Given the description of an element on the screen output the (x, y) to click on. 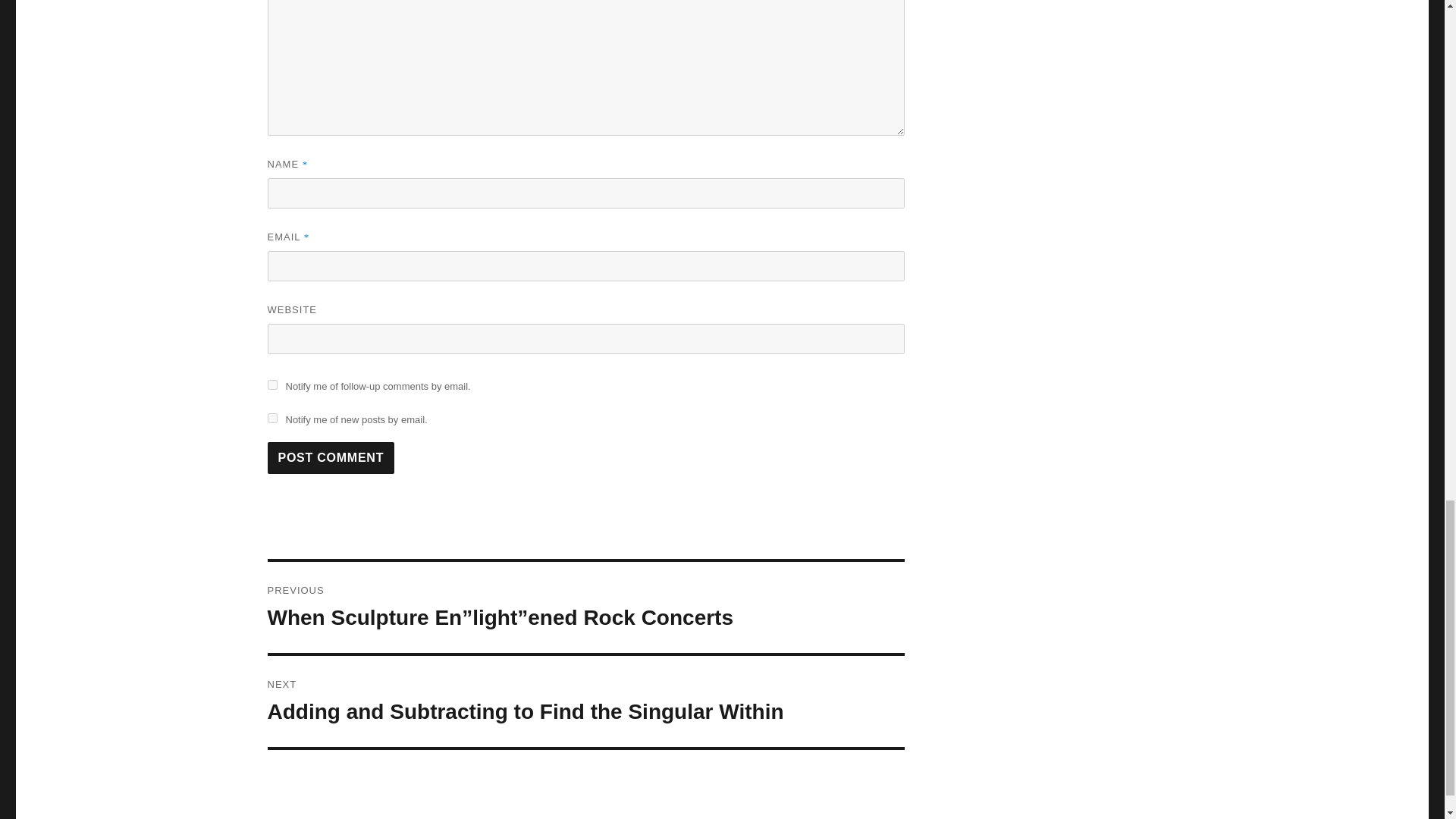
Post Comment (330, 458)
subscribe (271, 384)
subscribe (271, 418)
